Given the description of an element on the screen output the (x, y) to click on. 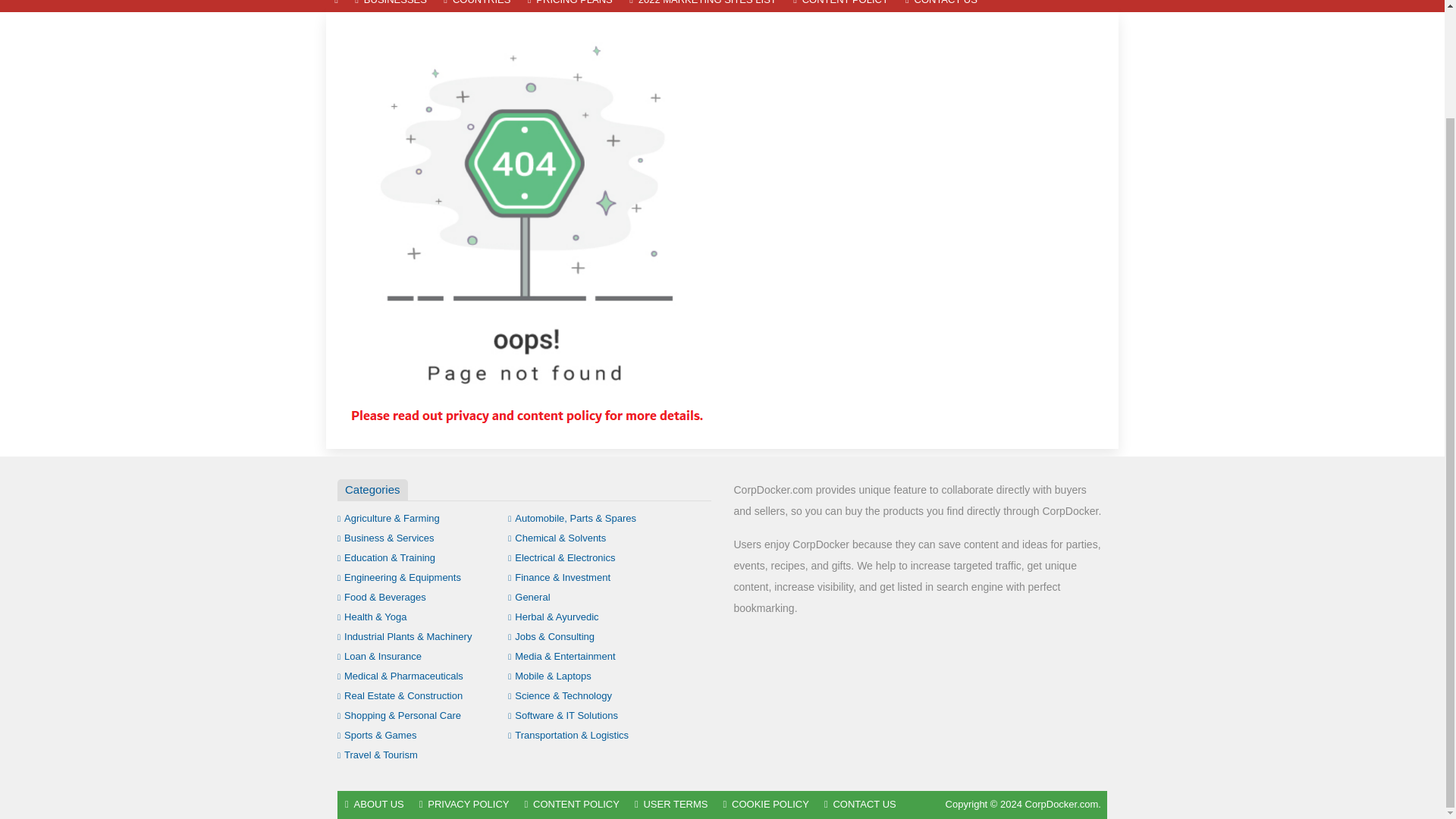
COUNTRIES (476, 6)
2022 MARKETING SITES LIST (702, 6)
CONTACT US (940, 6)
BUSINESSES (390, 6)
General (529, 596)
HOME (336, 6)
PRICING PLANS (570, 6)
CONTENT POLICY (840, 6)
